Given the description of an element on the screen output the (x, y) to click on. 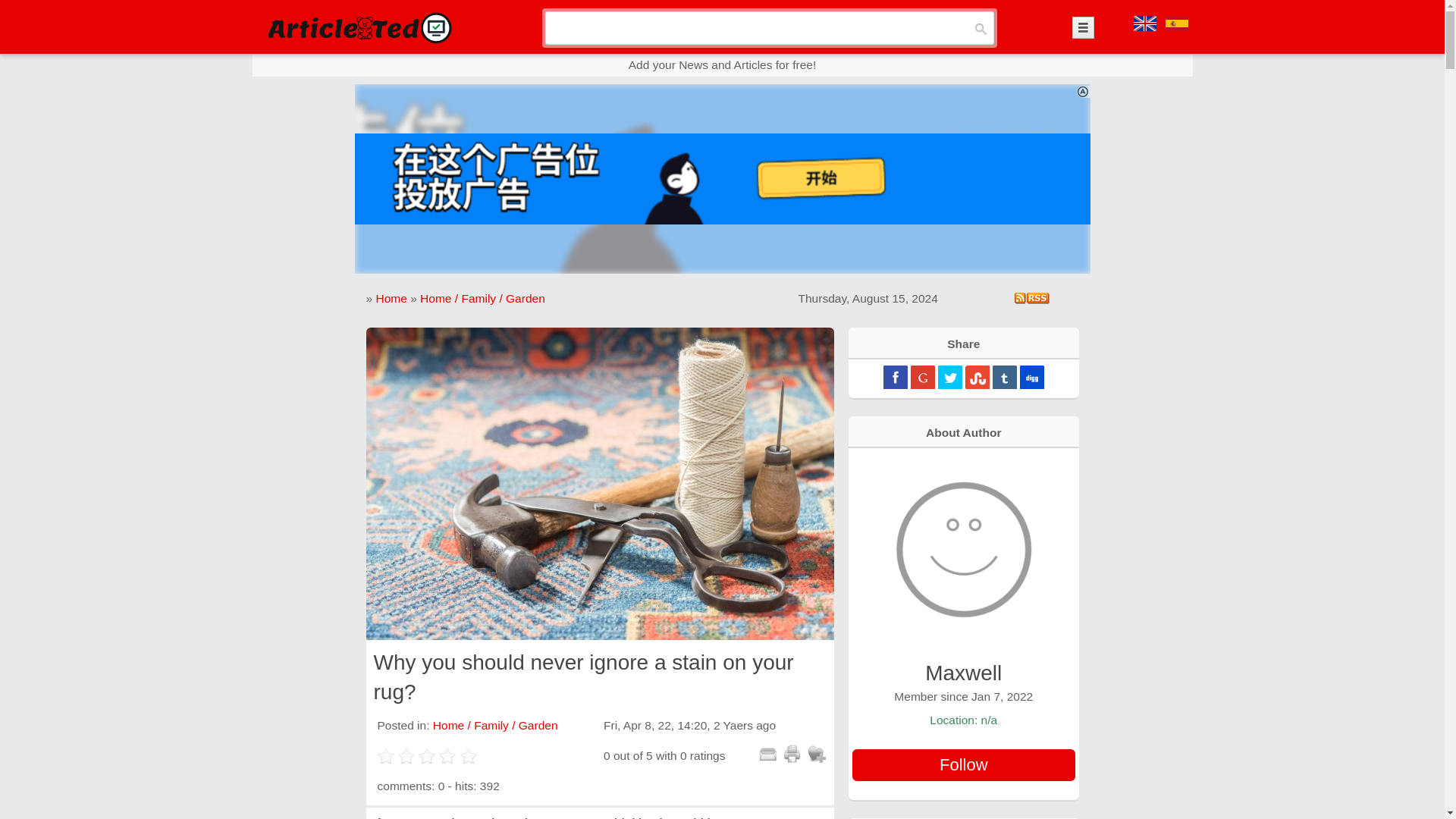
Home (390, 297)
ArticleTed -  News and Articles (357, 27)
Follow (963, 765)
